Given the description of an element on the screen output the (x, y) to click on. 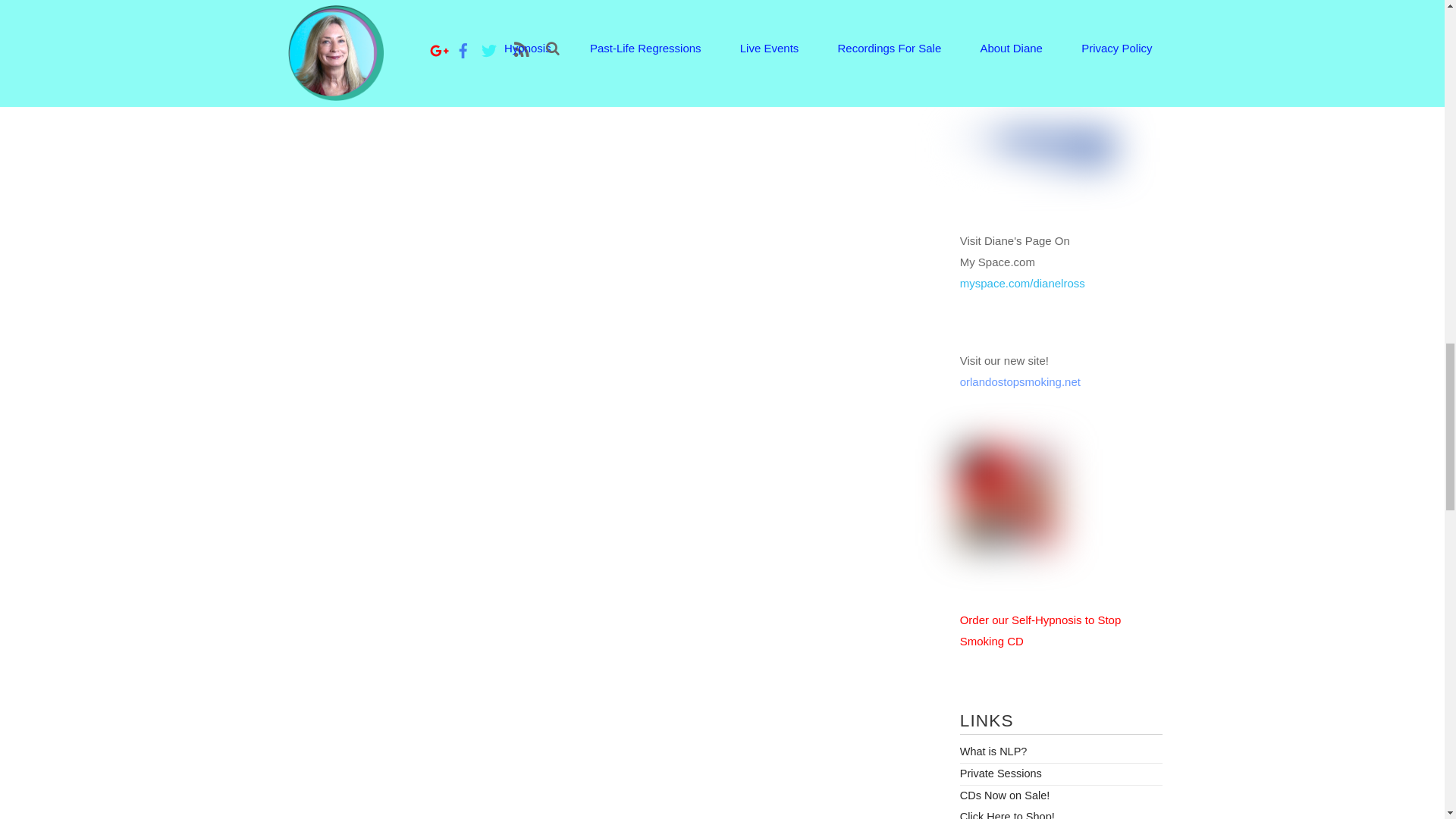
Orlando Stop Smoking (1008, 542)
